Given the description of an element on the screen output the (x, y) to click on. 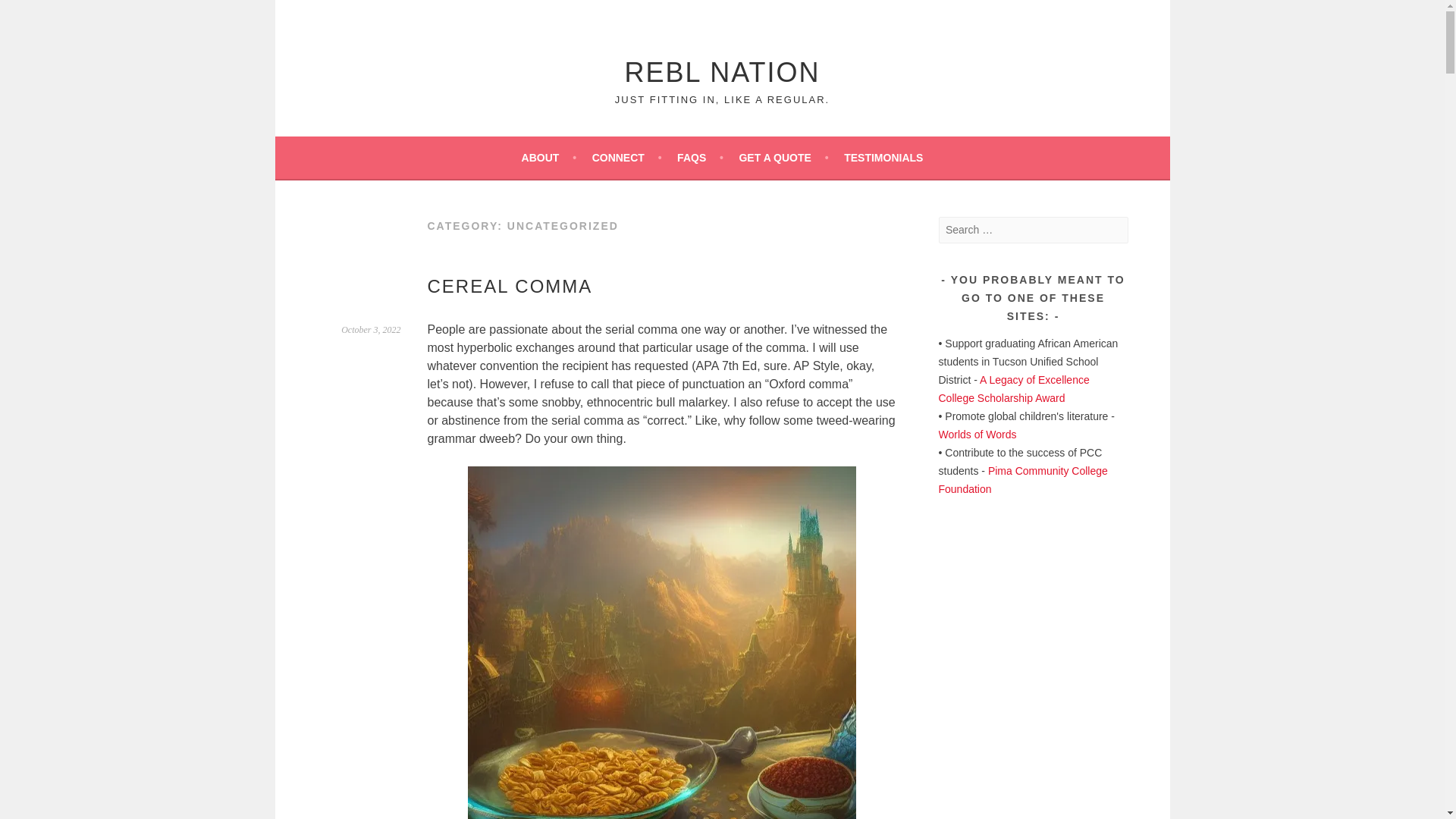
October 3, 2022 (370, 329)
CEREAL COMMA (510, 286)
Rebl Nation (721, 71)
TESTIMONIALS (883, 157)
Permalink to Cereal Comma (370, 329)
FAQS (700, 157)
REBL NATION (721, 71)
ABOUT (548, 157)
CONNECT (627, 157)
GET A QUOTE (783, 157)
